Given the description of an element on the screen output the (x, y) to click on. 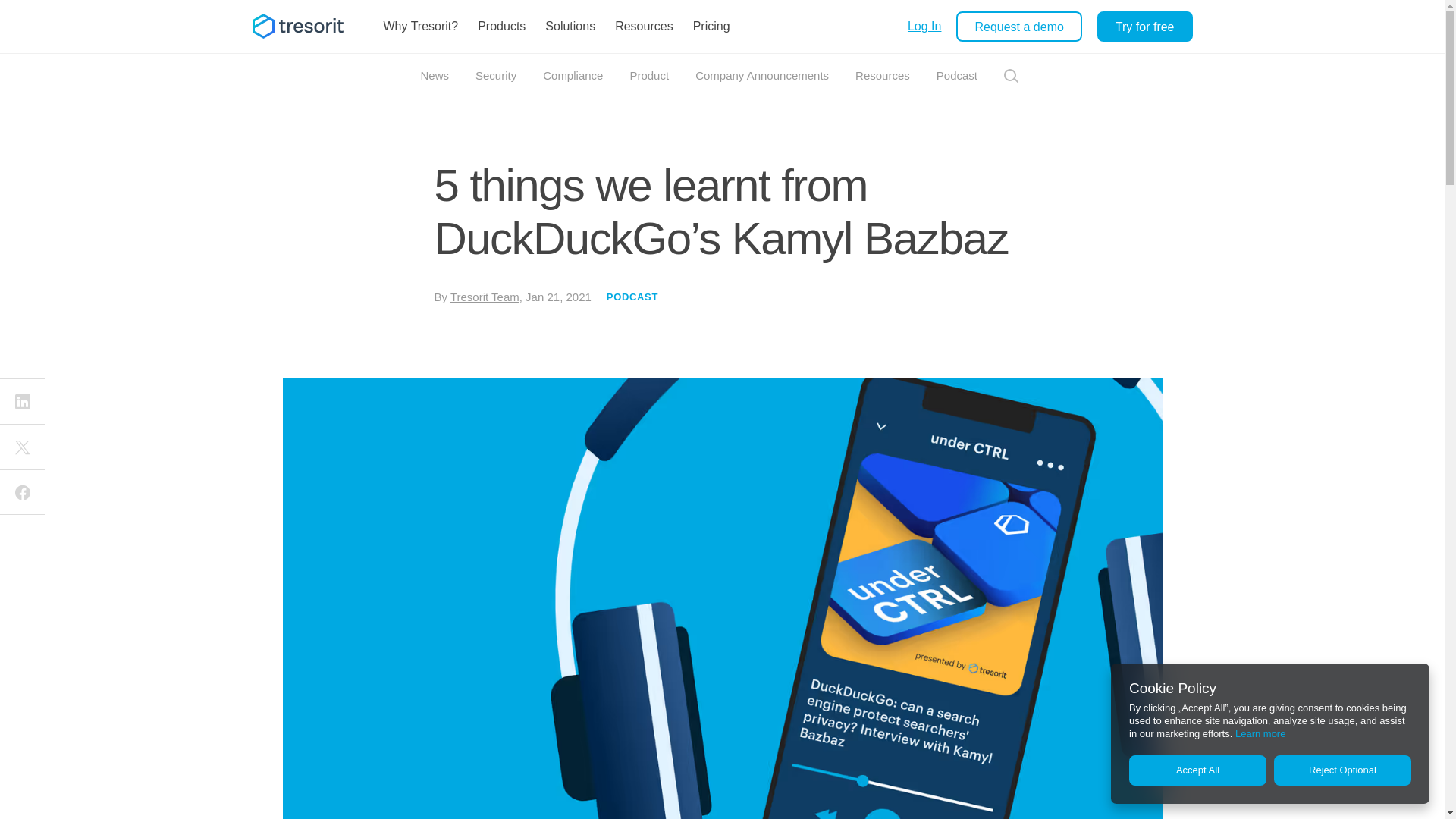
Resources (643, 26)
Why Tresorit? (419, 26)
Products (501, 26)
Solutions (570, 26)
Learn more (1259, 733)
Accept All (1197, 770)
Reject Optional (1342, 770)
